Given the description of an element on the screen output the (x, y) to click on. 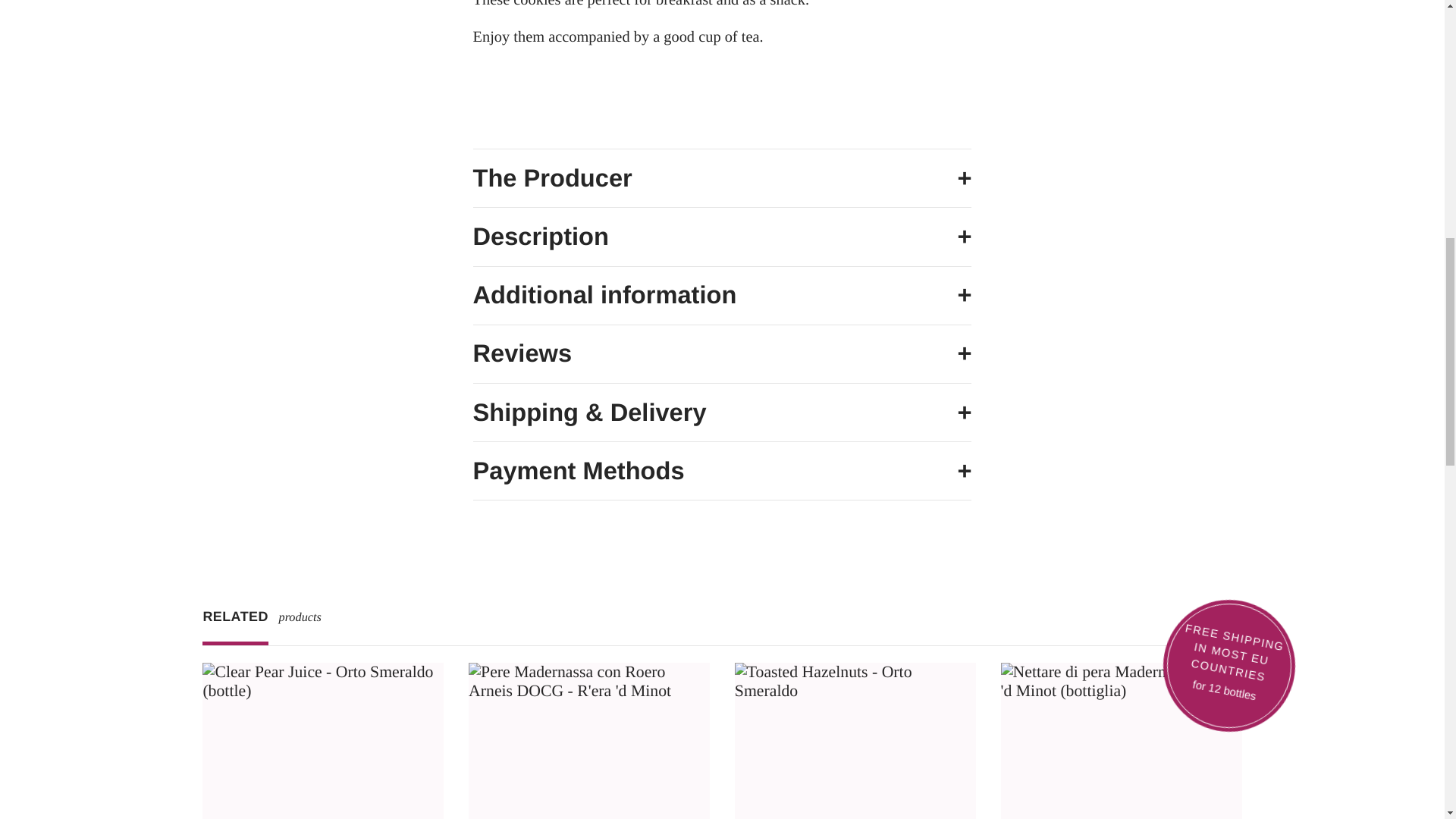
1 (589, 728)
